Given the description of an element on the screen output the (x, y) to click on. 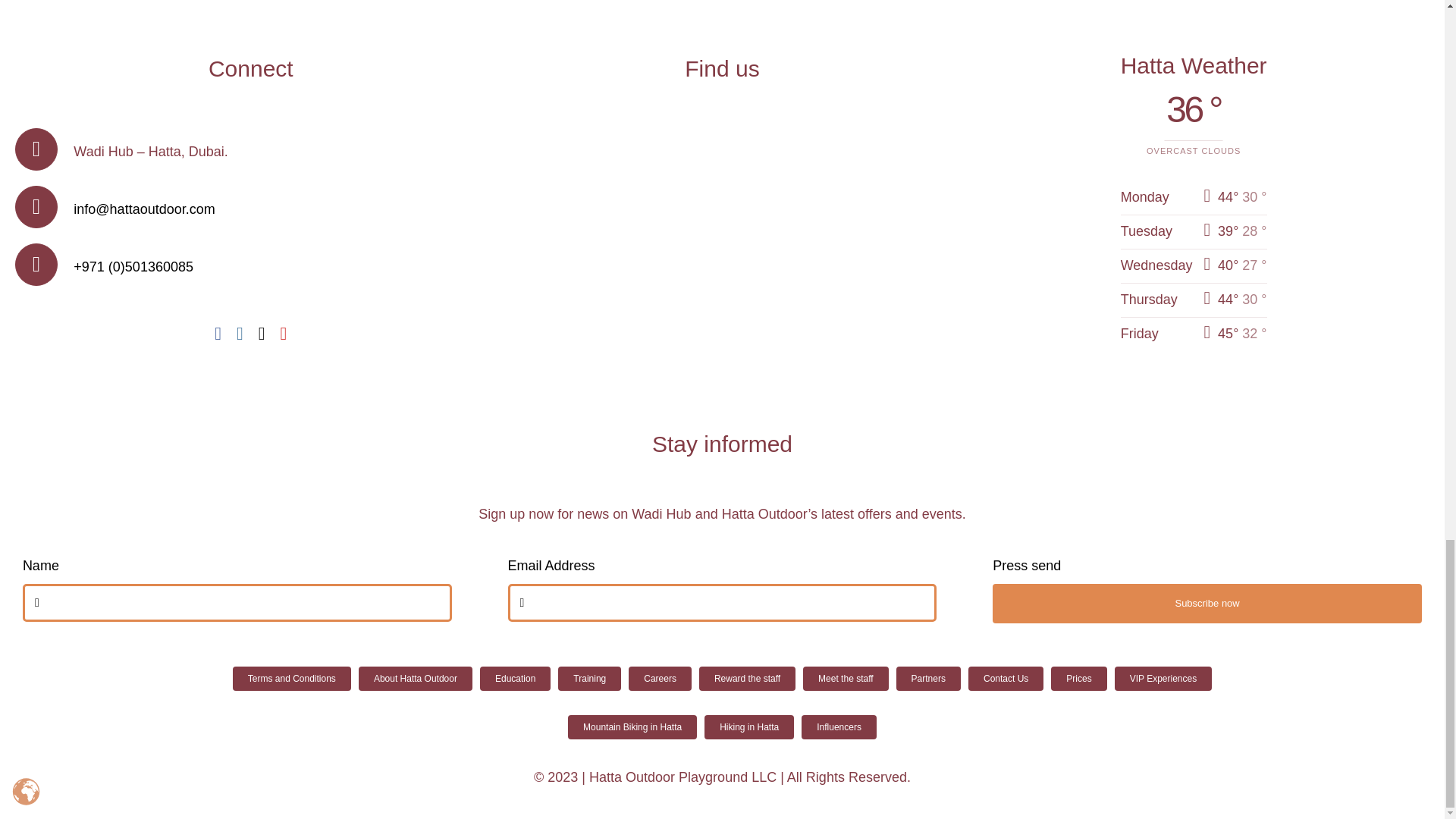
Subscribe now (722, 611)
